Given the description of an element on the screen output the (x, y) to click on. 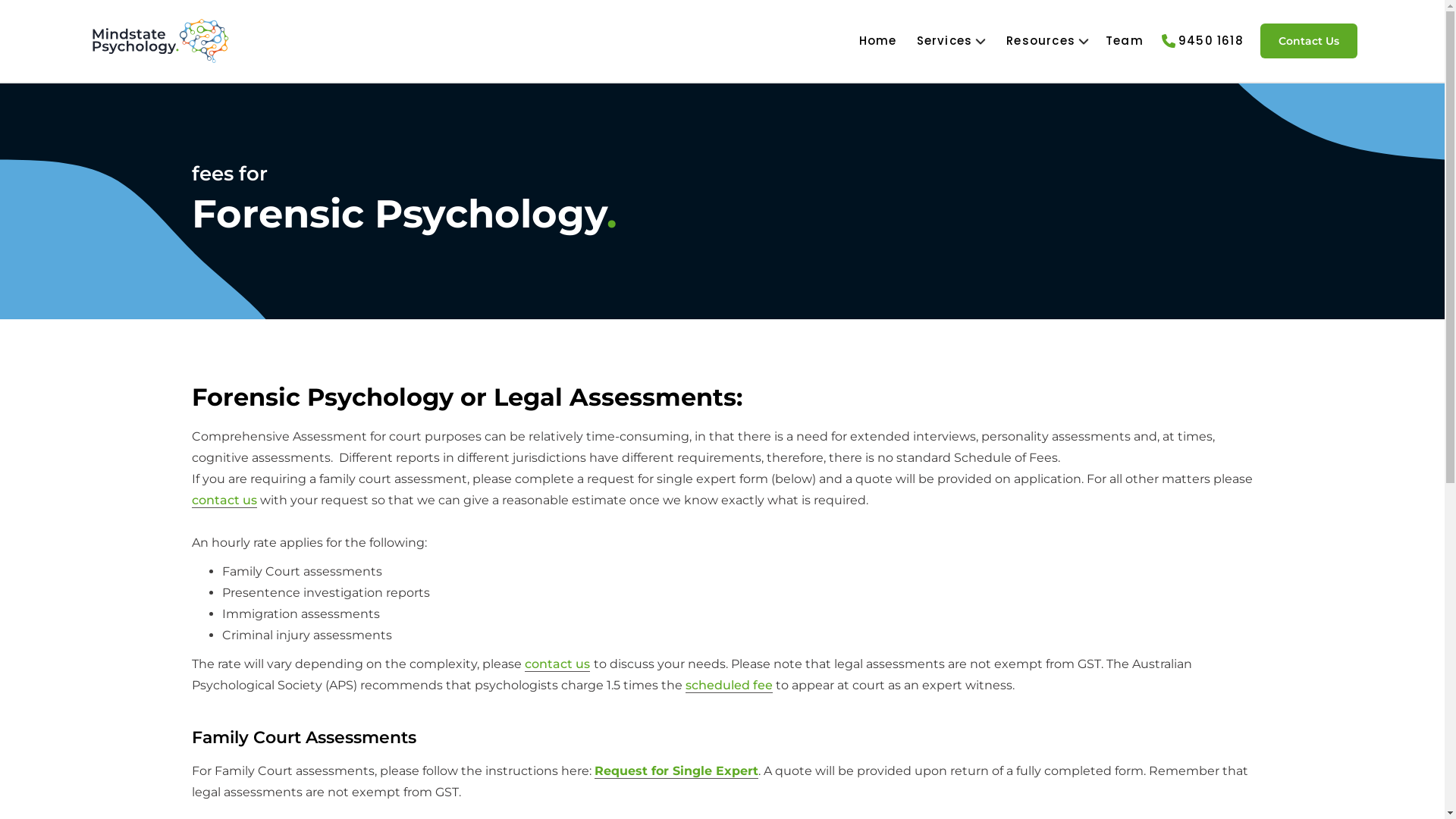
scheduled fee Element type: text (728, 685)
contact us Element type: text (223, 500)
Phone Icon
9450 1618 Element type: text (1203, 40)
Request for Single Expert Element type: text (676, 770)
Contact Us Element type: text (1308, 40)
Team Element type: text (1124, 40)
contact us Element type: text (556, 663)
Home Element type: text (878, 40)
